Given the description of an element on the screen output the (x, y) to click on. 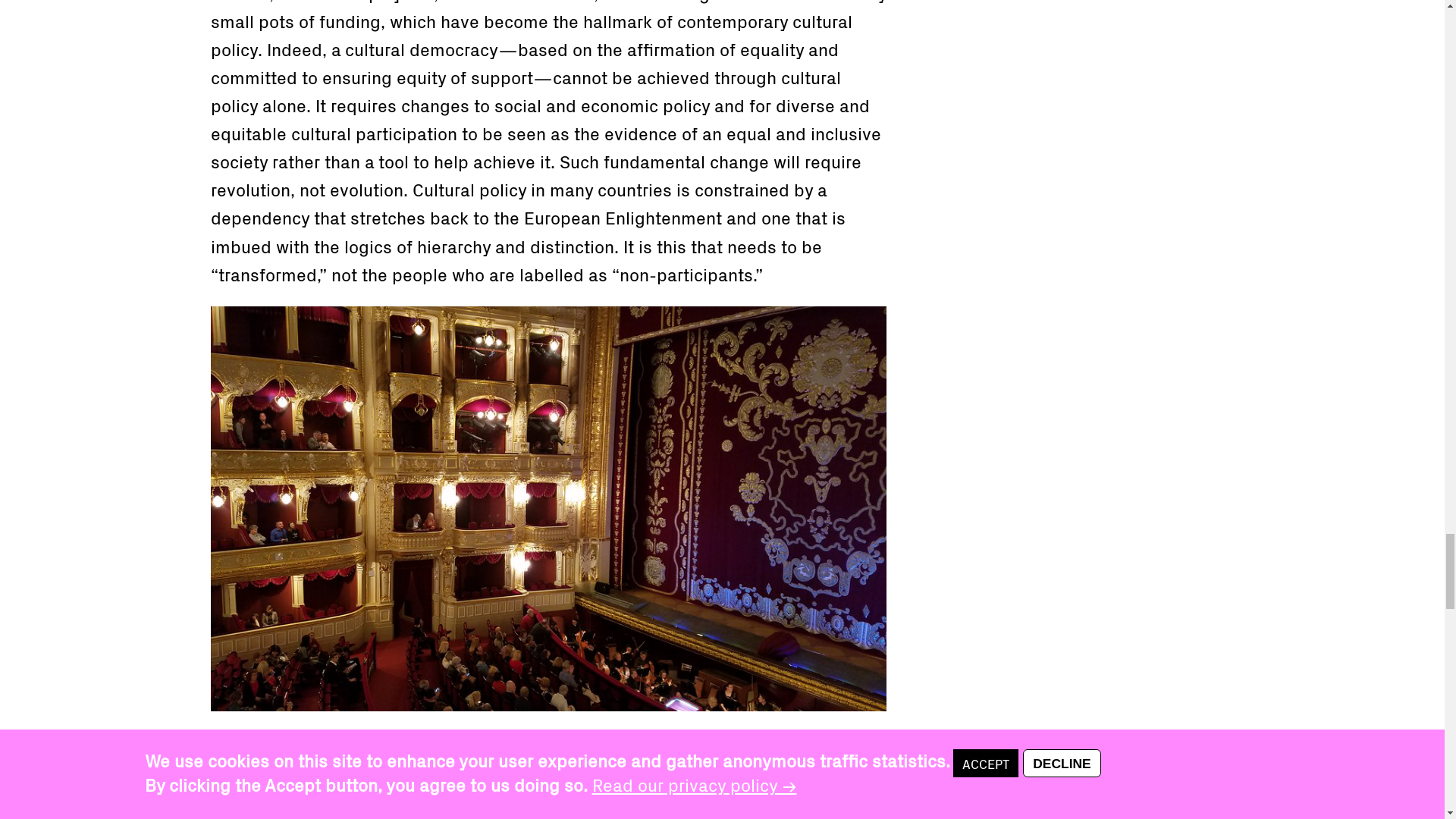
Dennis Deary (459, 743)
